Given the description of an element on the screen output the (x, y) to click on. 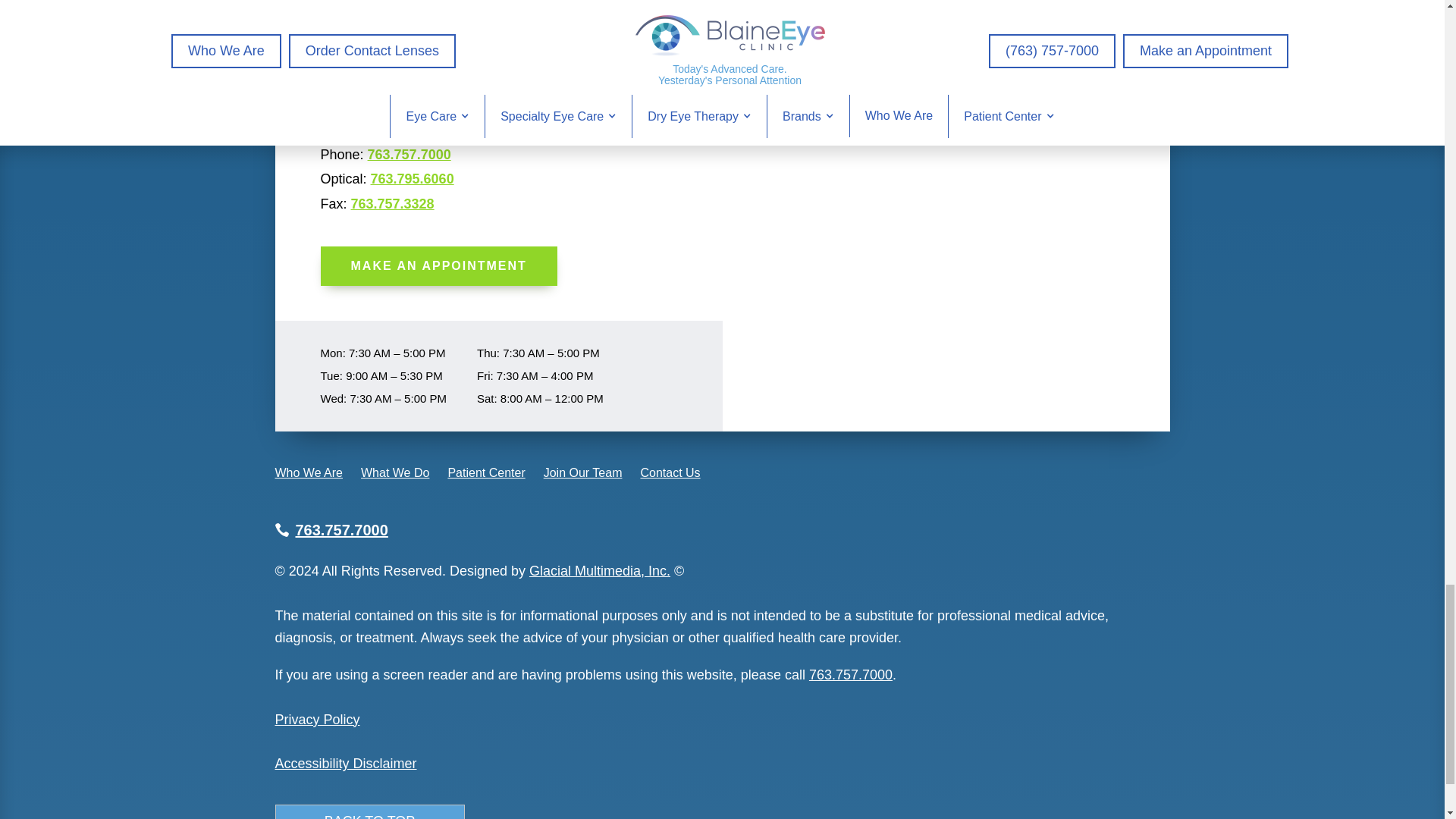
Click Here to Learn More About Who We Are (308, 473)
Click Here to Call 763.757.7000 (409, 154)
Click Here to Make an Appointment - Opens in a New Tab (438, 265)
Click Here to Call 763.795.6060 (412, 178)
Click Here to Learn More About What We Do (395, 473)
763.757.3328 (391, 203)
